Given the description of an element on the screen output the (x, y) to click on. 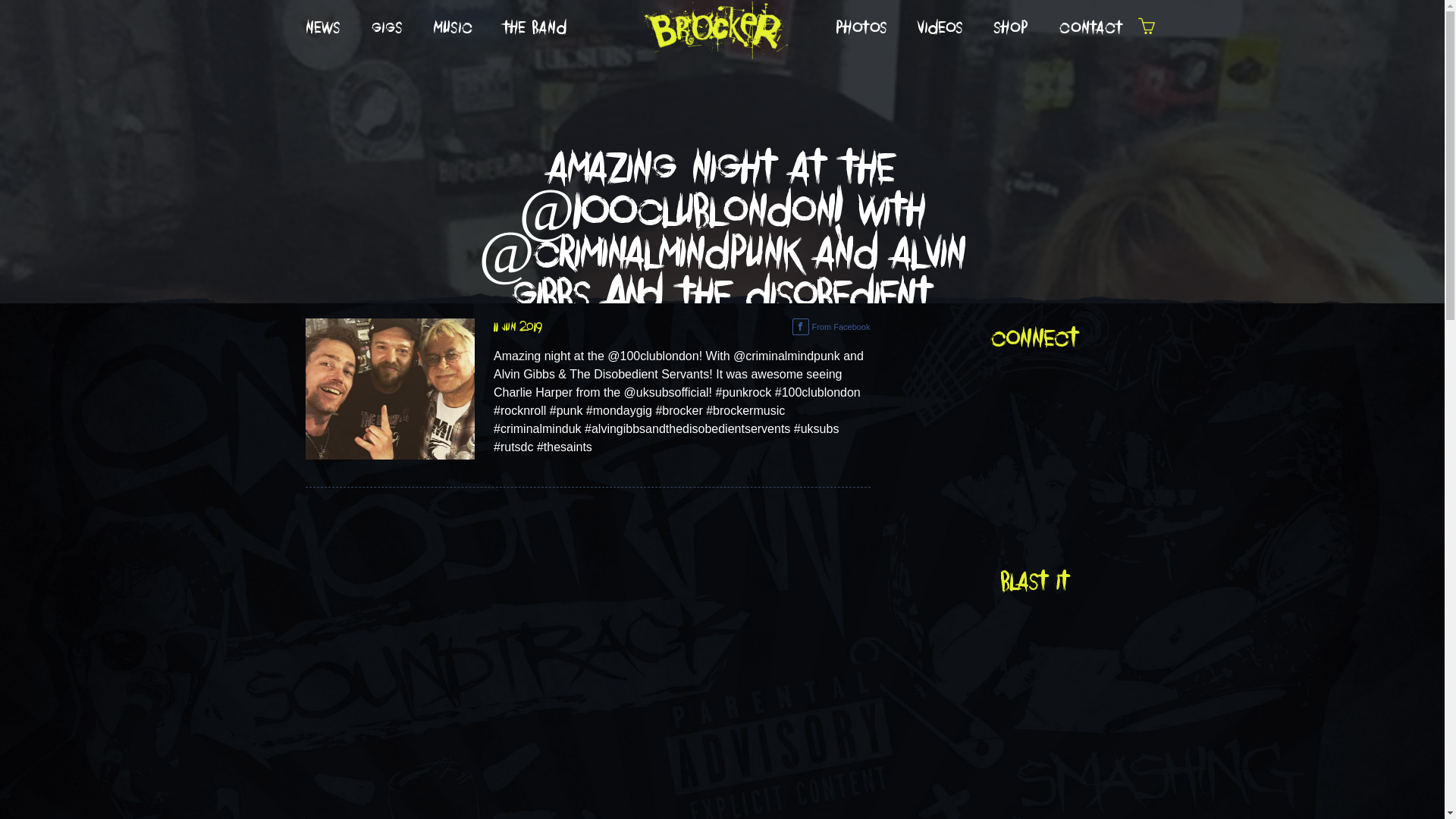
BROCKER Element type: hover (713, 27)
the band Element type: text (535, 28)
photos Element type: text (861, 28)
music Element type: text (453, 28)
shop Element type: text (1010, 28)
From Facebook Element type: text (830, 326)
videos Element type: text (940, 28)
Click to see on Facebook Element type: hover (389, 387)
gigs Element type: text (387, 28)
contact Element type: text (1090, 28)
Menu Element type: hover (1145, 28)
news Element type: text (322, 28)
